Given the description of an element on the screen output the (x, y) to click on. 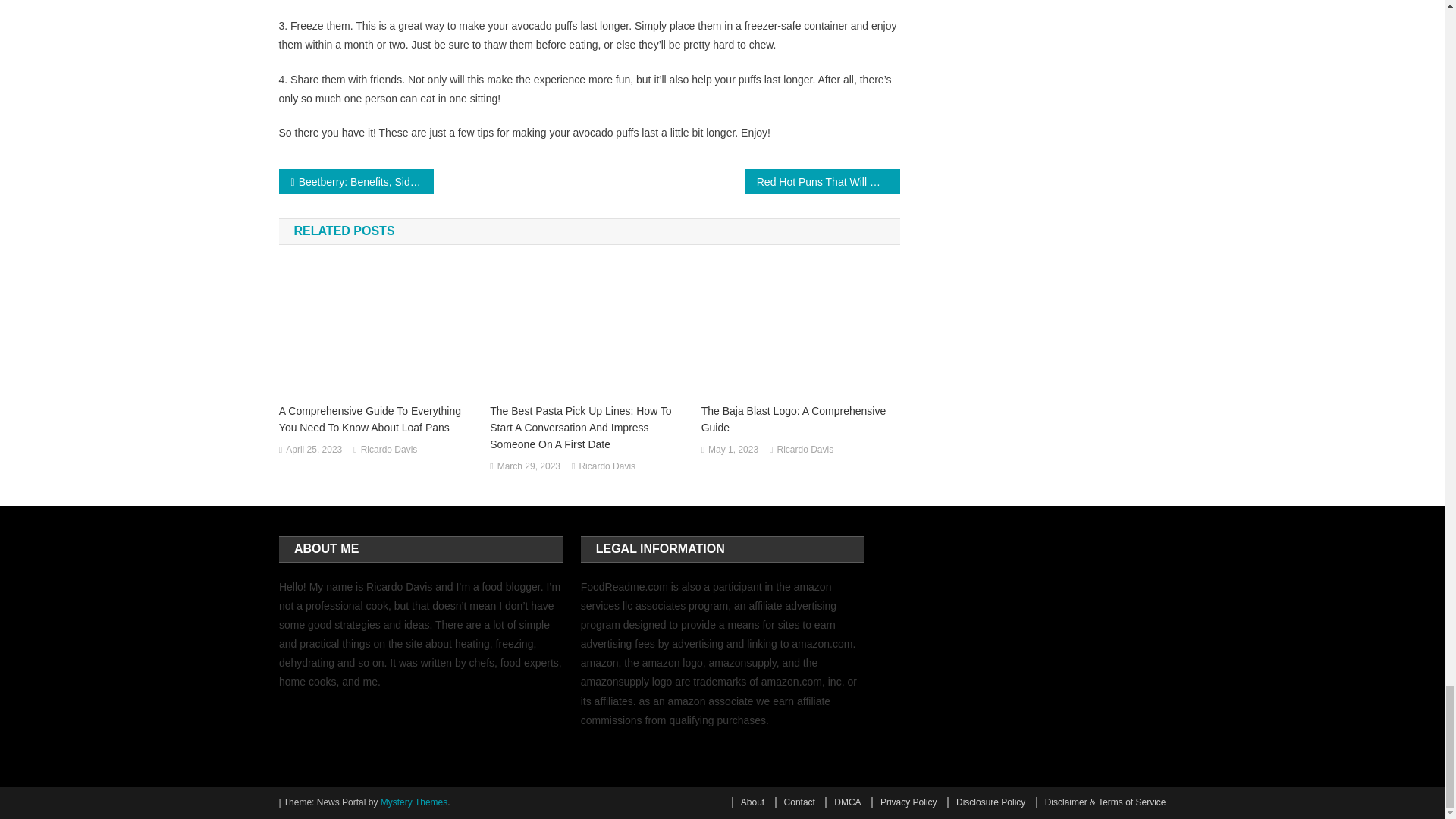
Ricardo Davis (606, 466)
March 29, 2023 (528, 466)
April 25, 2023 (313, 450)
Beetberry: Benefits, Side Effects, Dosage, And More (356, 181)
Red Hot Puns That Will Make You Blush (821, 181)
Ricardo Davis (389, 450)
The Baja Blast Logo: A Comprehensive Guide (800, 418)
